Given the description of an element on the screen output the (x, y) to click on. 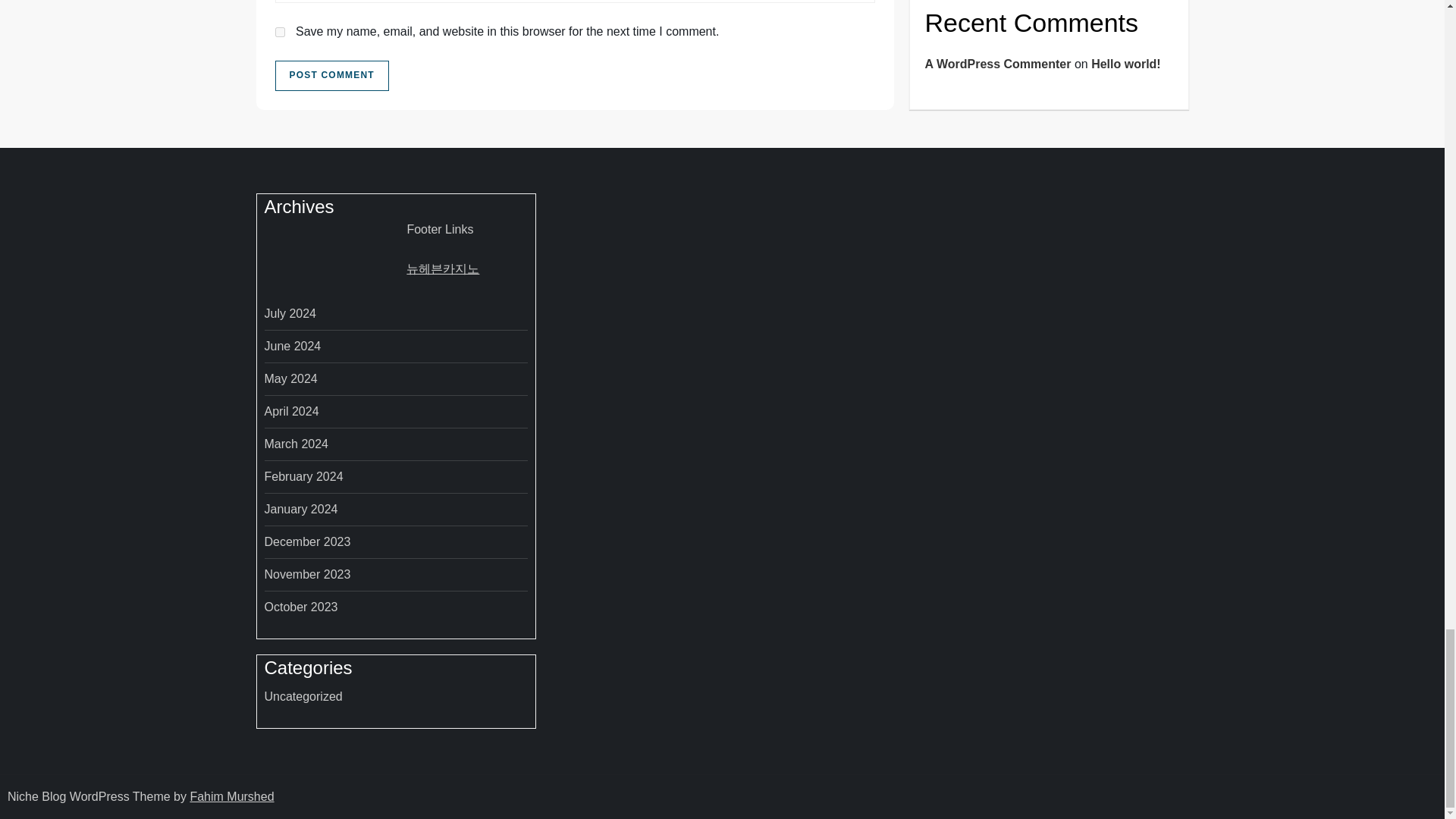
April 2024 (290, 411)
July 2024 (289, 313)
December 2023 (306, 541)
January 2024 (300, 509)
November 2023 (306, 574)
Uncategorized (302, 696)
May 2024 (290, 378)
yes (279, 31)
October 2023 (300, 607)
Post Comment (331, 75)
